Given the description of an element on the screen output the (x, y) to click on. 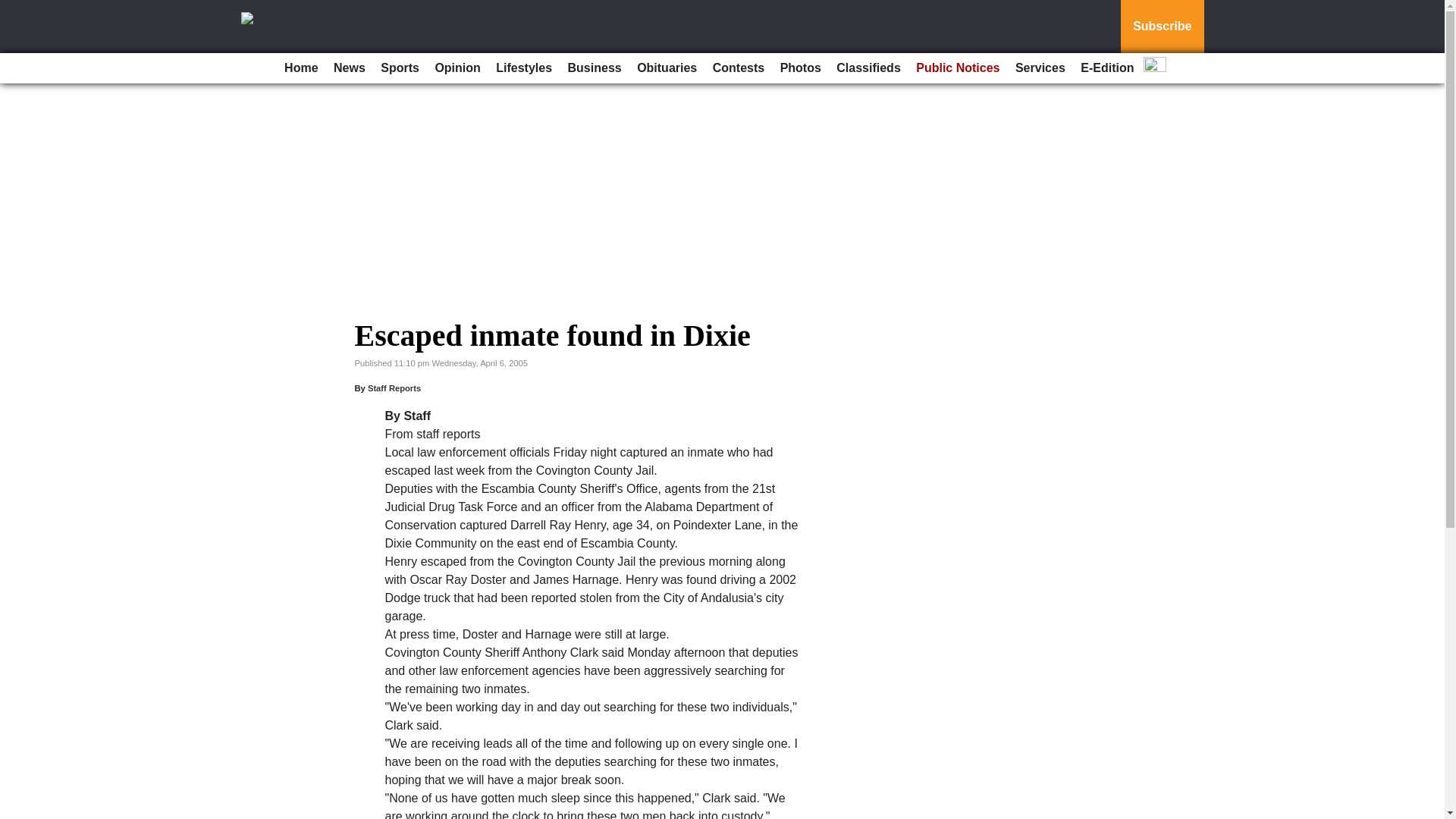
Public Notices (958, 68)
Opinion (457, 68)
Services (1040, 68)
Classifieds (867, 68)
Photos (800, 68)
Business (594, 68)
Go (13, 9)
Lifestyles (523, 68)
News (349, 68)
Subscribe (1162, 26)
Staff Reports (394, 388)
Home (300, 68)
Obituaries (666, 68)
Contests (738, 68)
E-Edition (1107, 68)
